Given the description of an element on the screen output the (x, y) to click on. 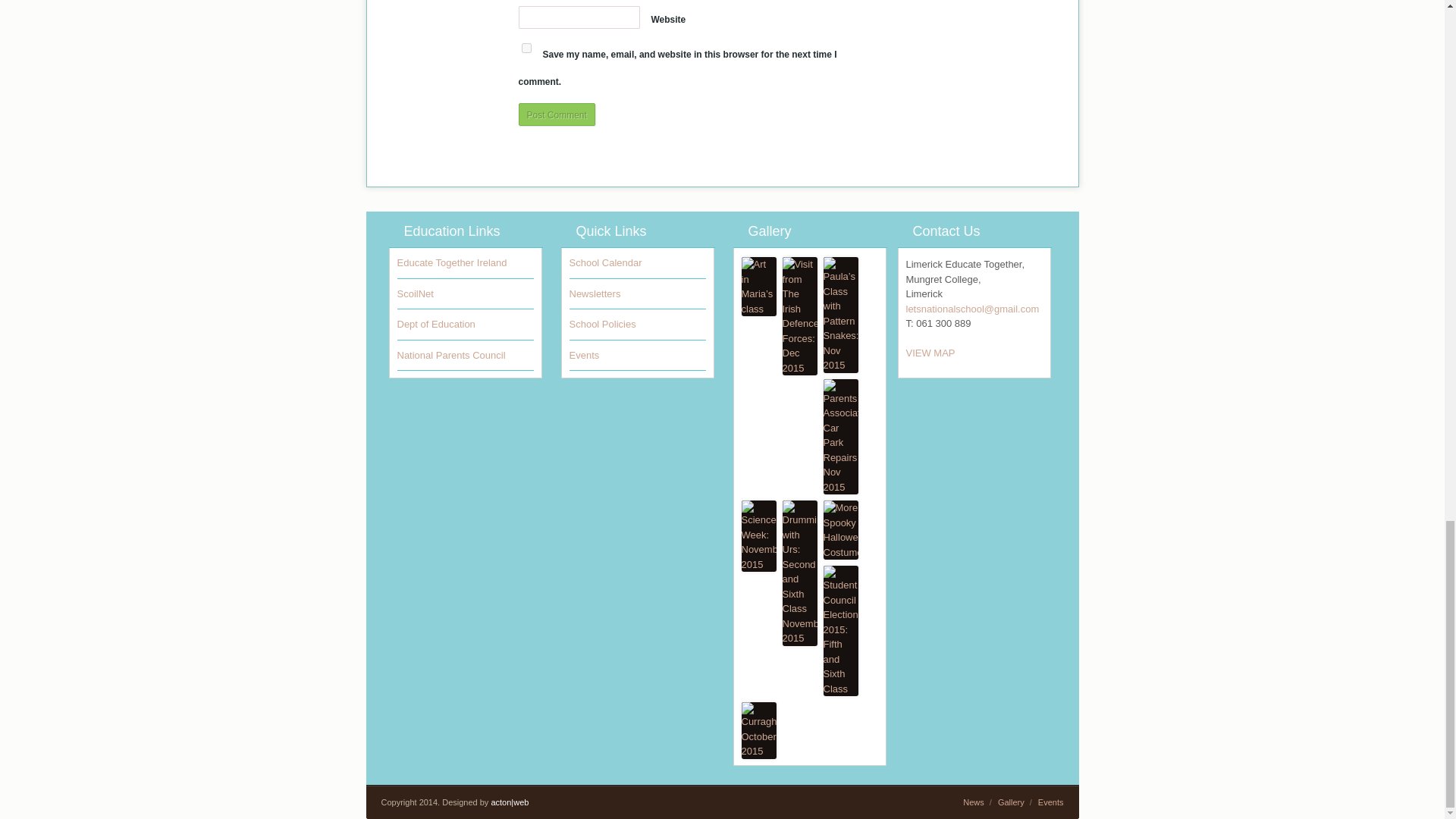
Post Comment (556, 114)
Post Comment (556, 114)
yes (526, 48)
